Given the description of an element on the screen output the (x, y) to click on. 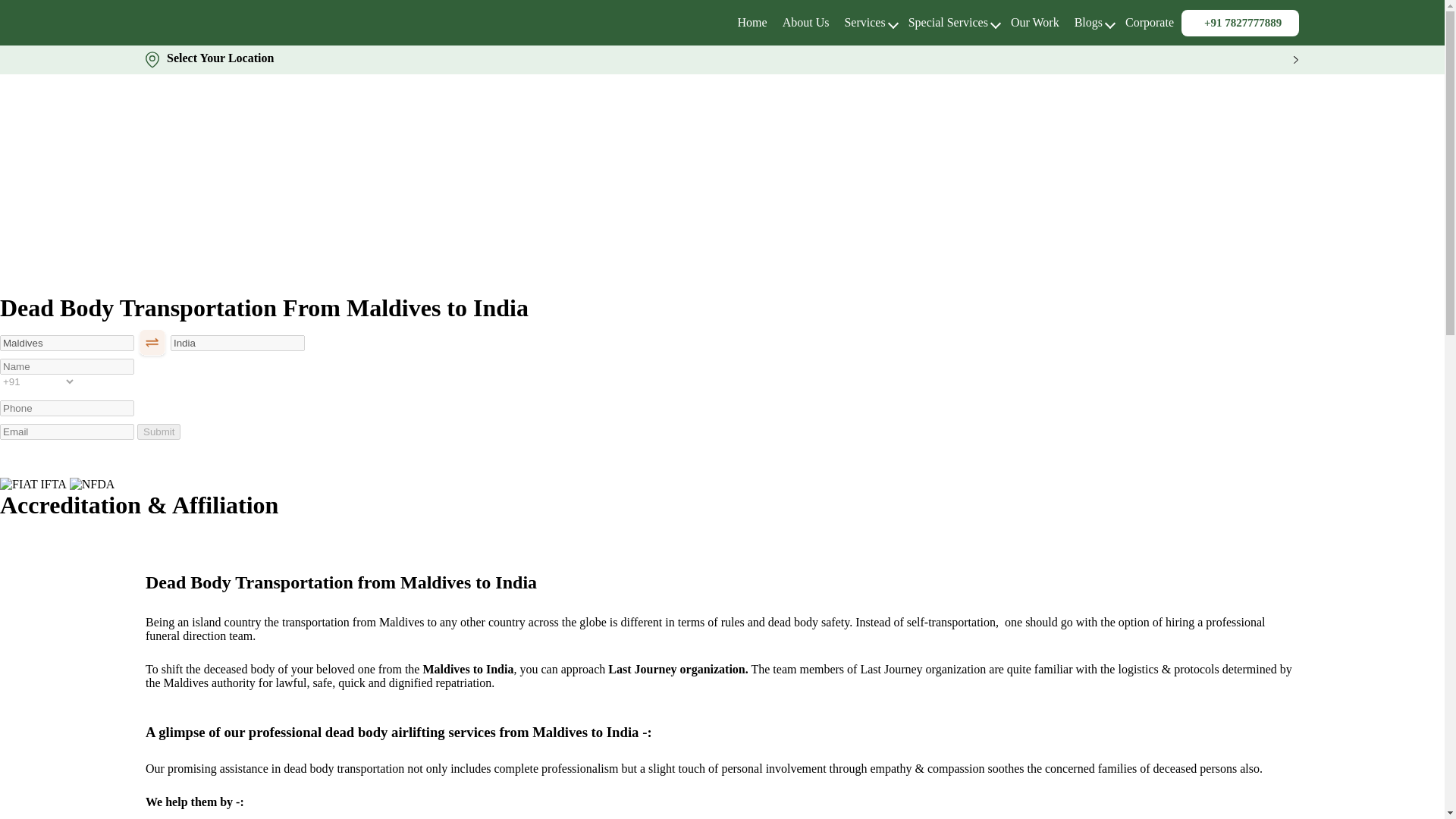
Lastjourney.in (752, 21)
Home (752, 21)
India (237, 342)
Submit (158, 431)
Special Services (948, 21)
About Us (806, 21)
About Us (806, 21)
Maldives (66, 342)
